Given the description of an element on the screen output the (x, y) to click on. 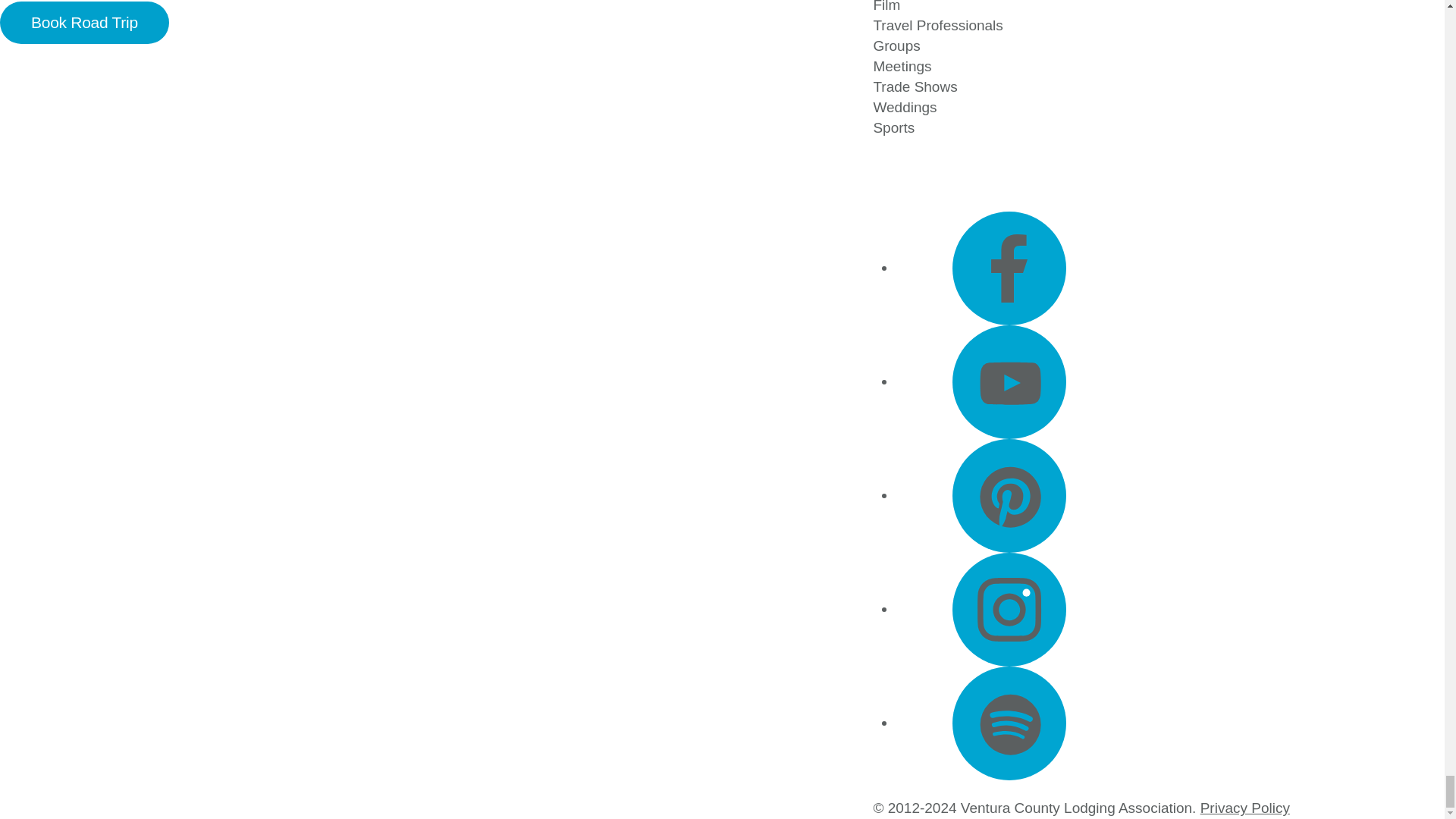
youtube (1008, 381)
spotify (1008, 723)
facebook (1008, 268)
instagram (1008, 609)
pinterest (1008, 495)
